Given the description of an element on the screen output the (x, y) to click on. 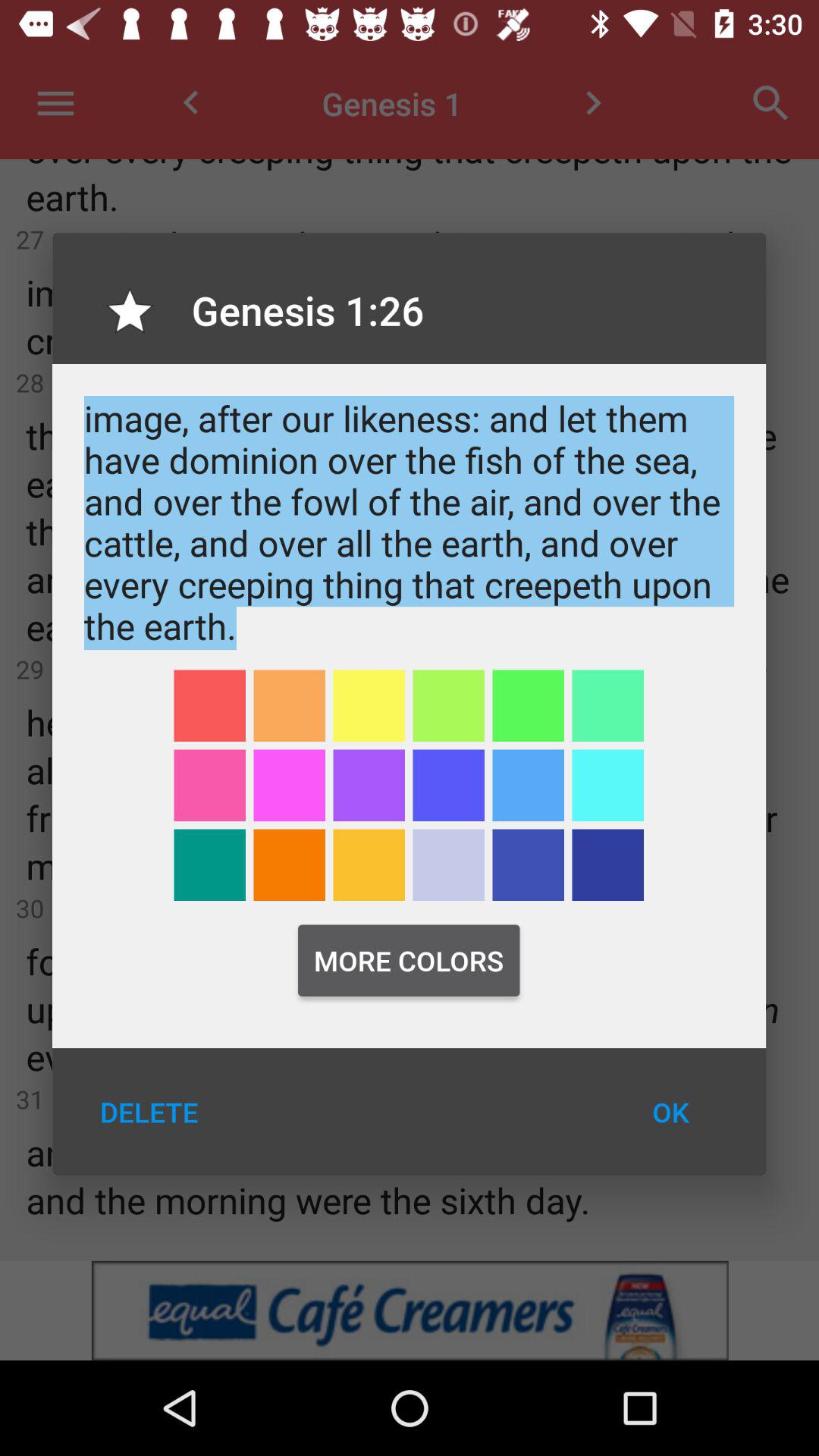
select color option (607, 864)
